Given the description of an element on the screen output the (x, y) to click on. 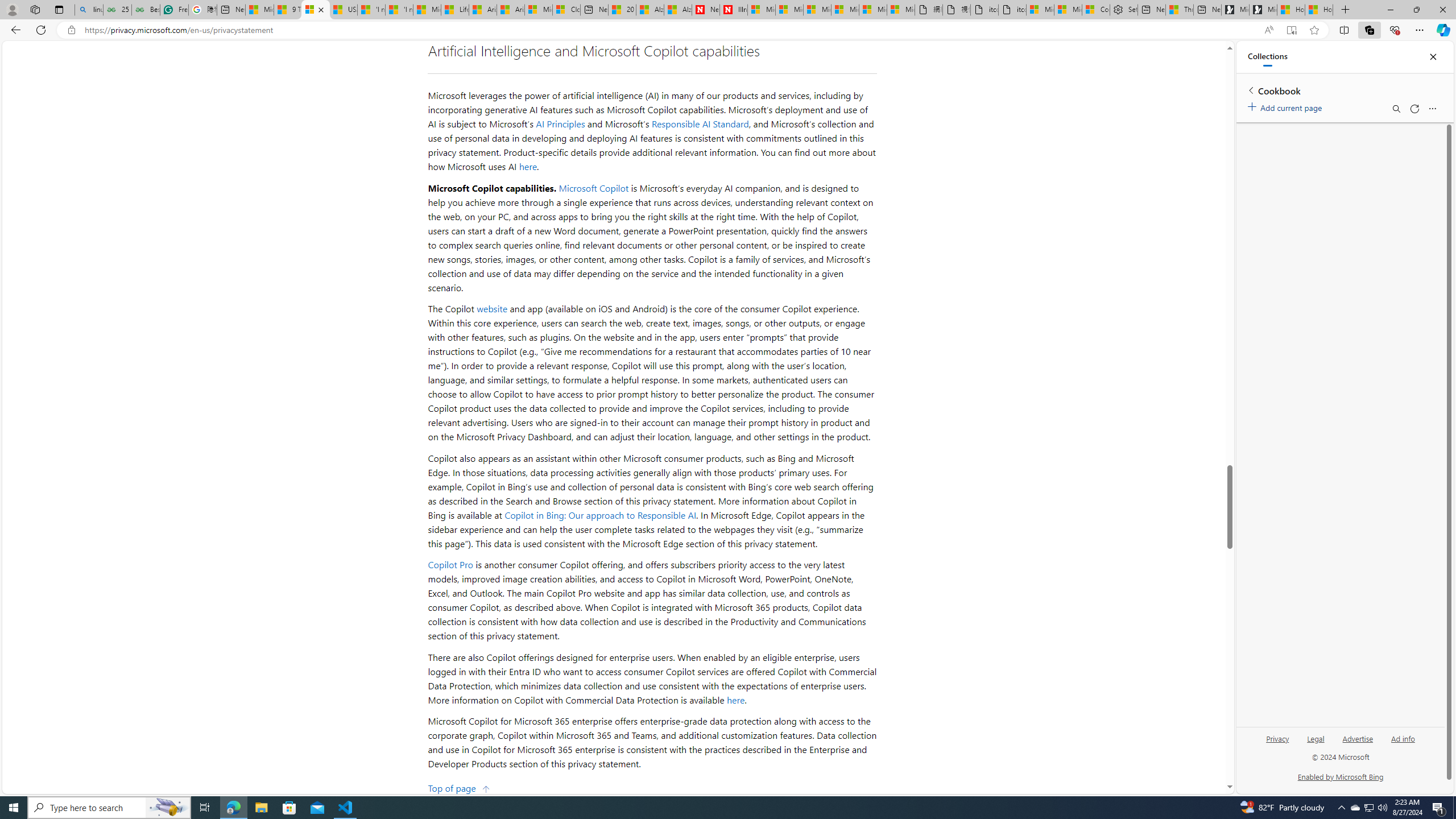
Cloud Computing Services | Microsoft Azure (566, 9)
Consumer Health Data Privacy Policy (1096, 9)
itconcepthk.com/projector_solutions.mp4 (1011, 9)
Free AI Writing Assistance for Students | Grammarly (174, 9)
Copilot in Bing: Our approach to Responsible AI (600, 514)
Responsible AI Standard (699, 123)
